Given the description of an element on the screen output the (x, y) to click on. 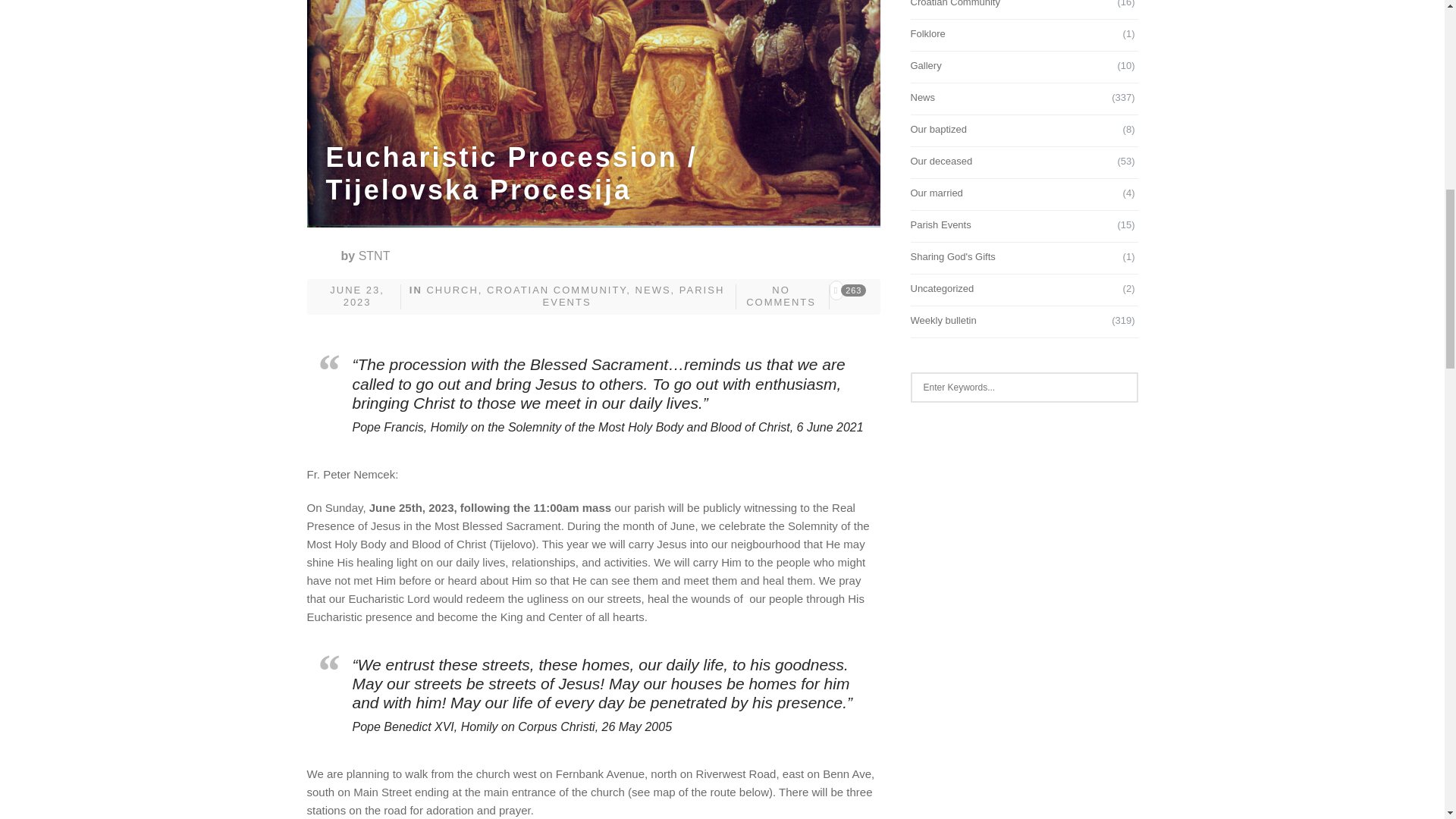
STNT (374, 255)
NEWS (652, 289)
CROATIAN COMMUNITY (556, 289)
PARISH EVENTS (634, 296)
Posts by STNT (374, 255)
CHURCH (451, 289)
